Given the description of an element on the screen output the (x, y) to click on. 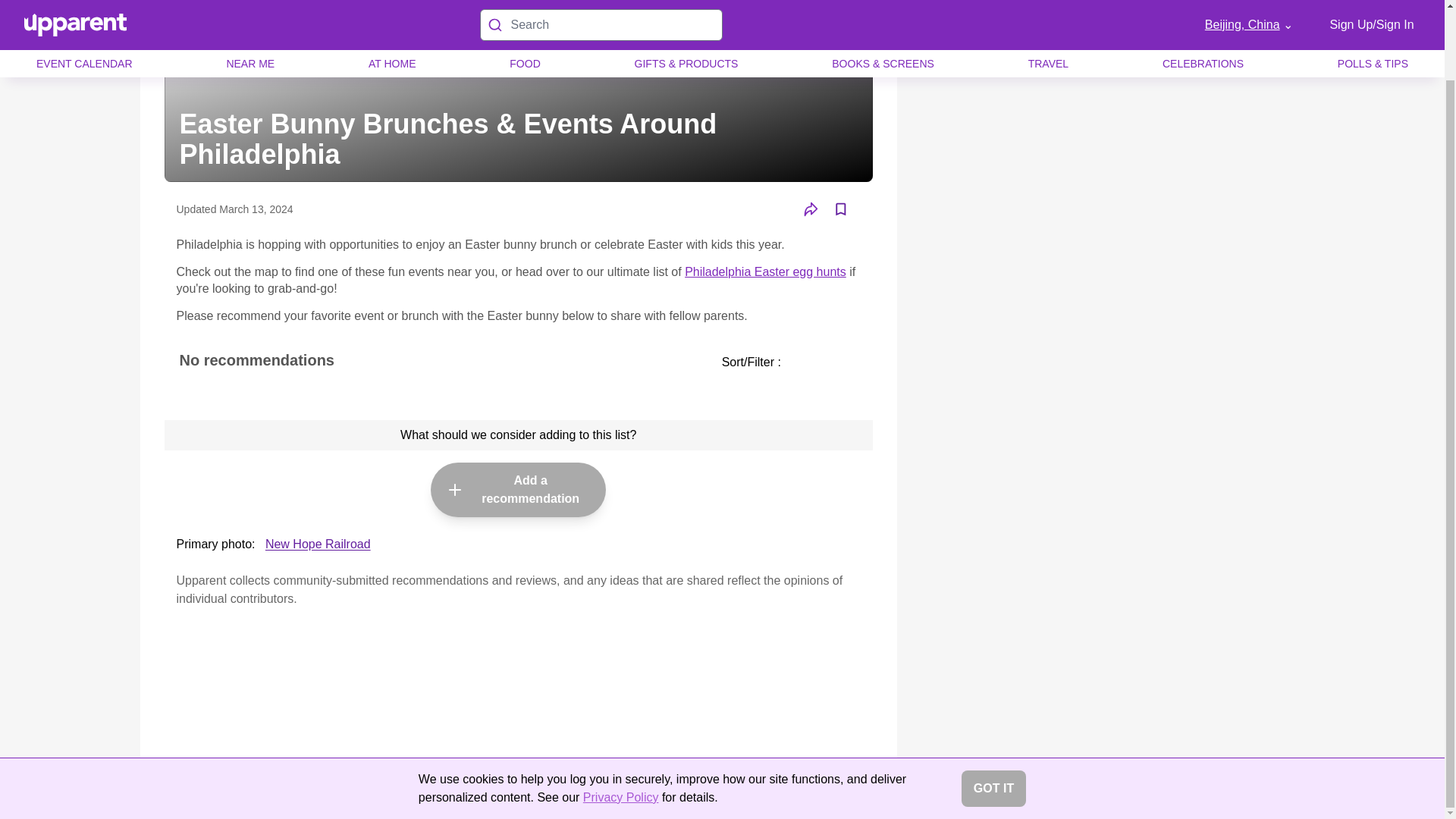
New Recommendation (454, 489)
